Given the description of an element on the screen output the (x, y) to click on. 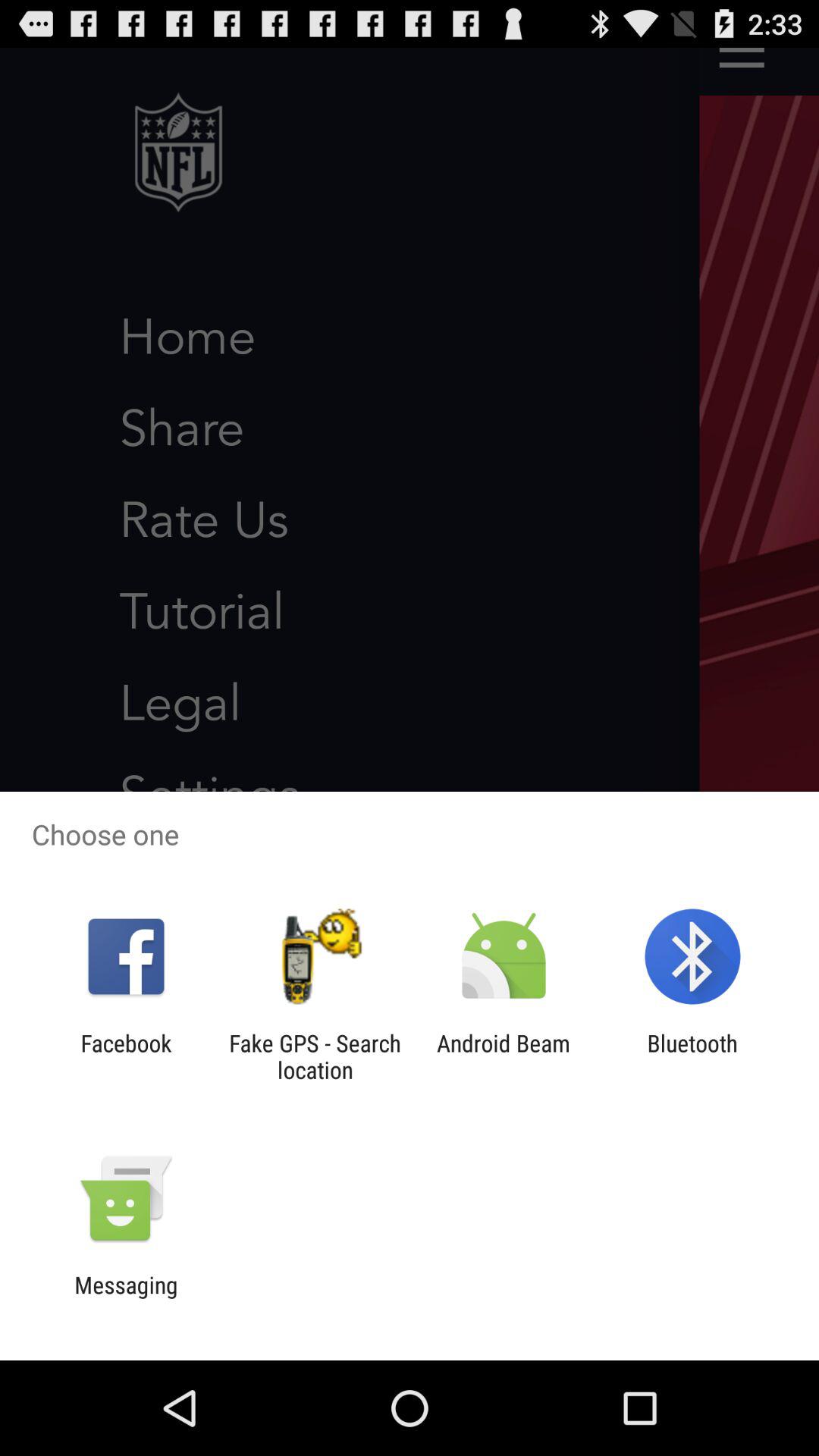
turn on fake gps search app (314, 1056)
